Given the description of an element on the screen output the (x, y) to click on. 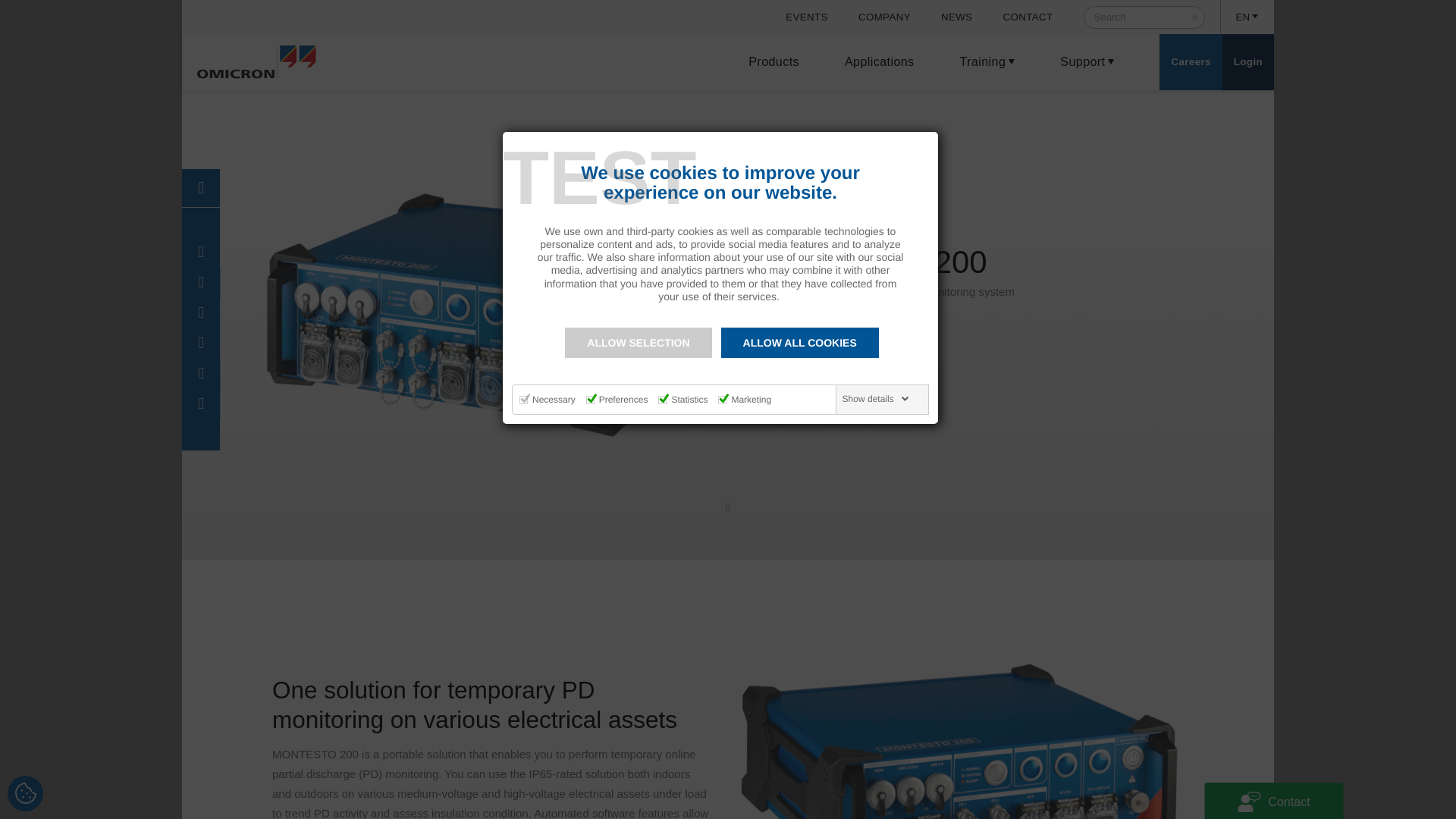
ALLOW ALL COOKIES (799, 342)
ALLOW SELECTION (637, 342)
Show details (876, 398)
